Given the description of an element on the screen output the (x, y) to click on. 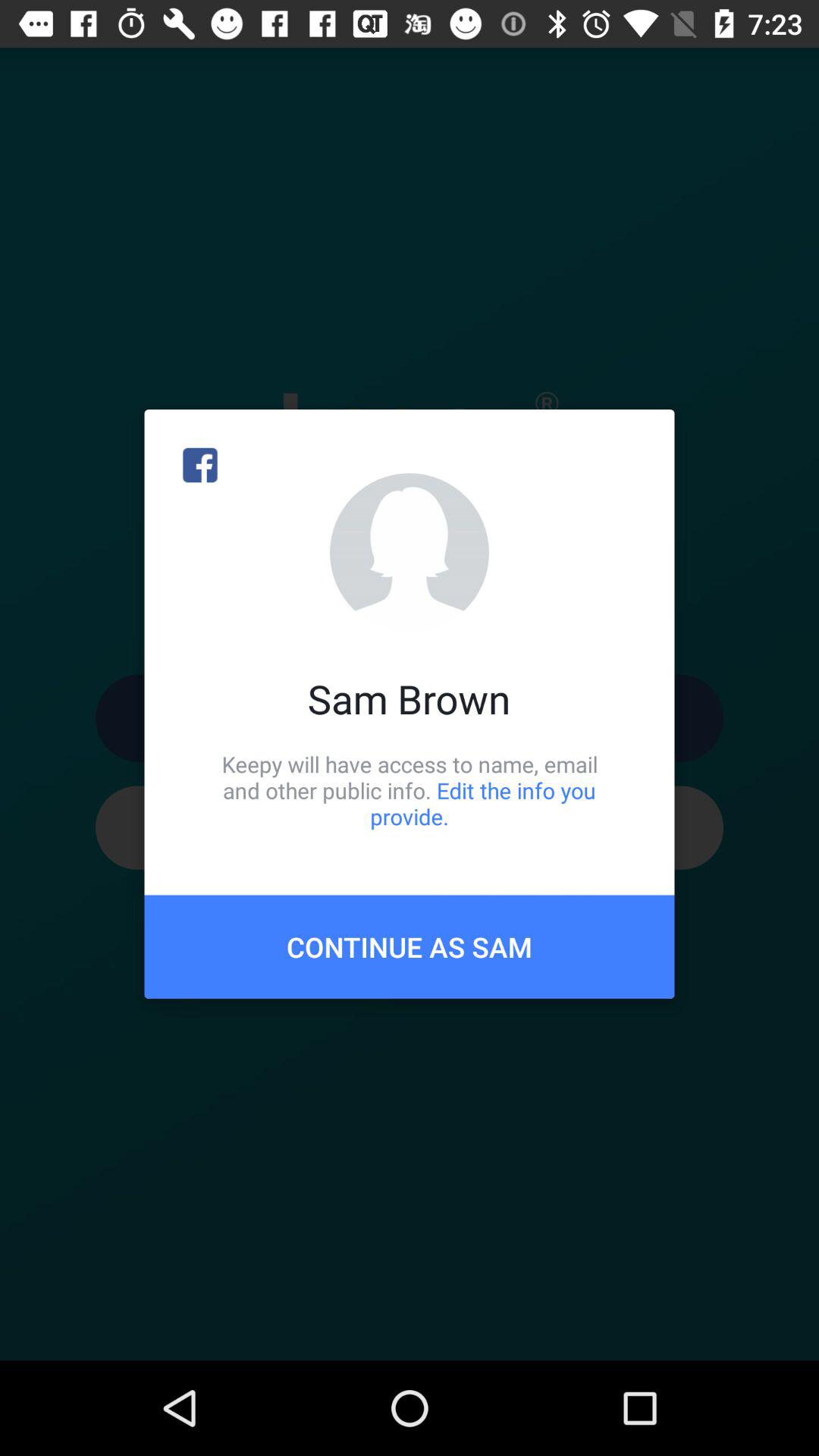
turn off the icon below keepy will have icon (409, 946)
